Given the description of an element on the screen output the (x, y) to click on. 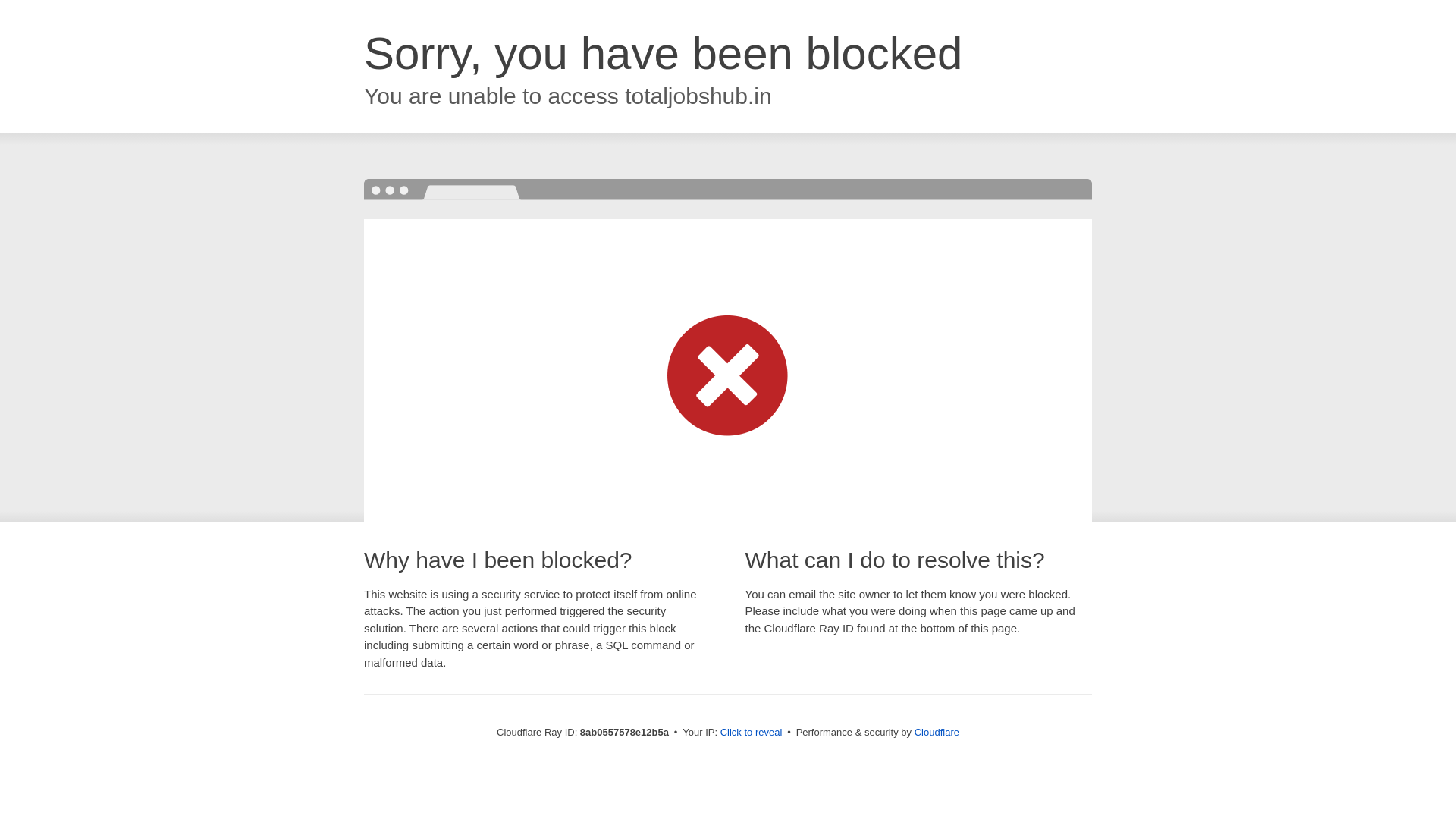
Click to reveal (751, 732)
Cloudflare (936, 731)
